Given the description of an element on the screen output the (x, y) to click on. 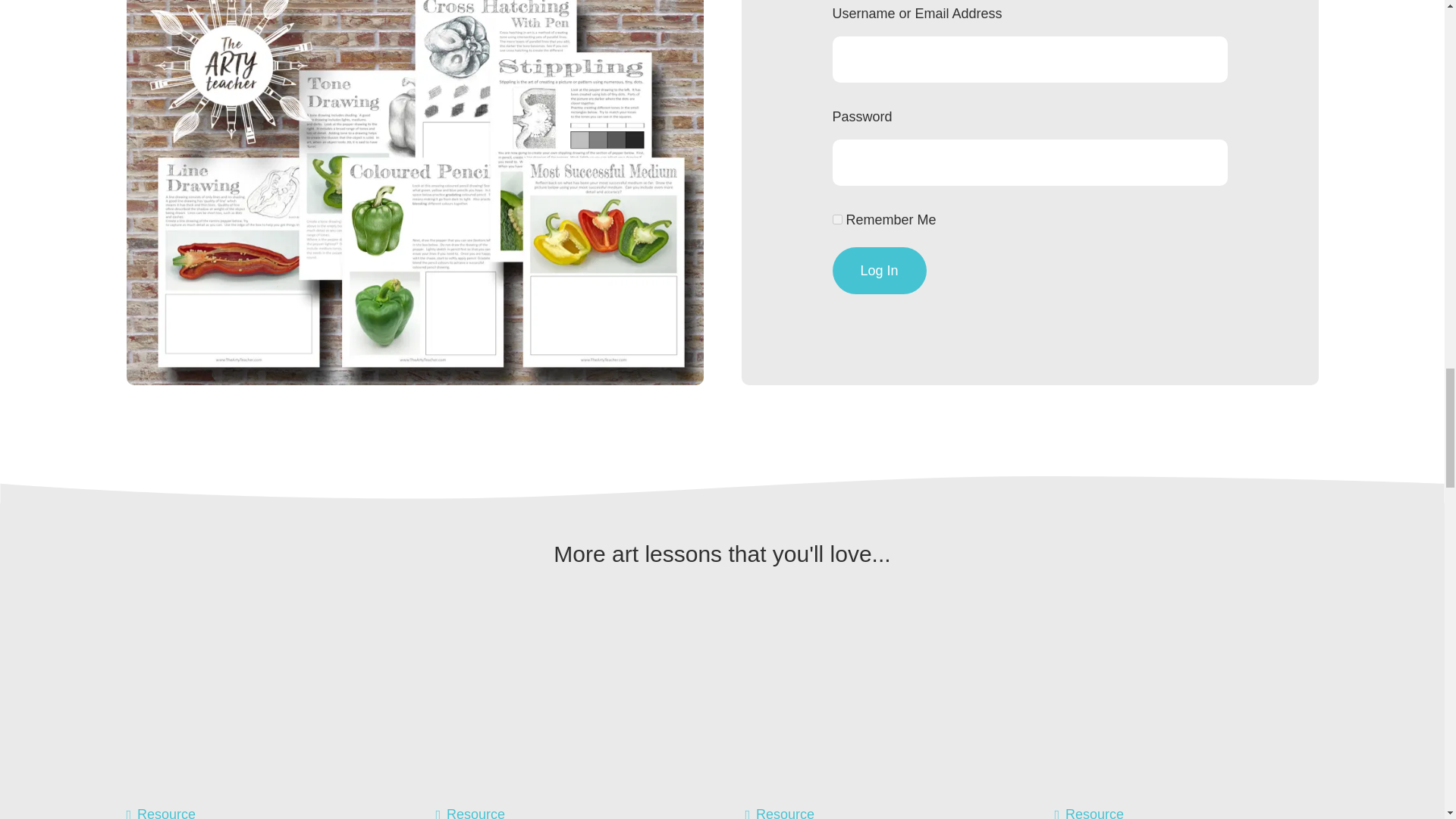
Log In (879, 270)
forever (837, 219)
